Given the description of an element on the screen output the (x, y) to click on. 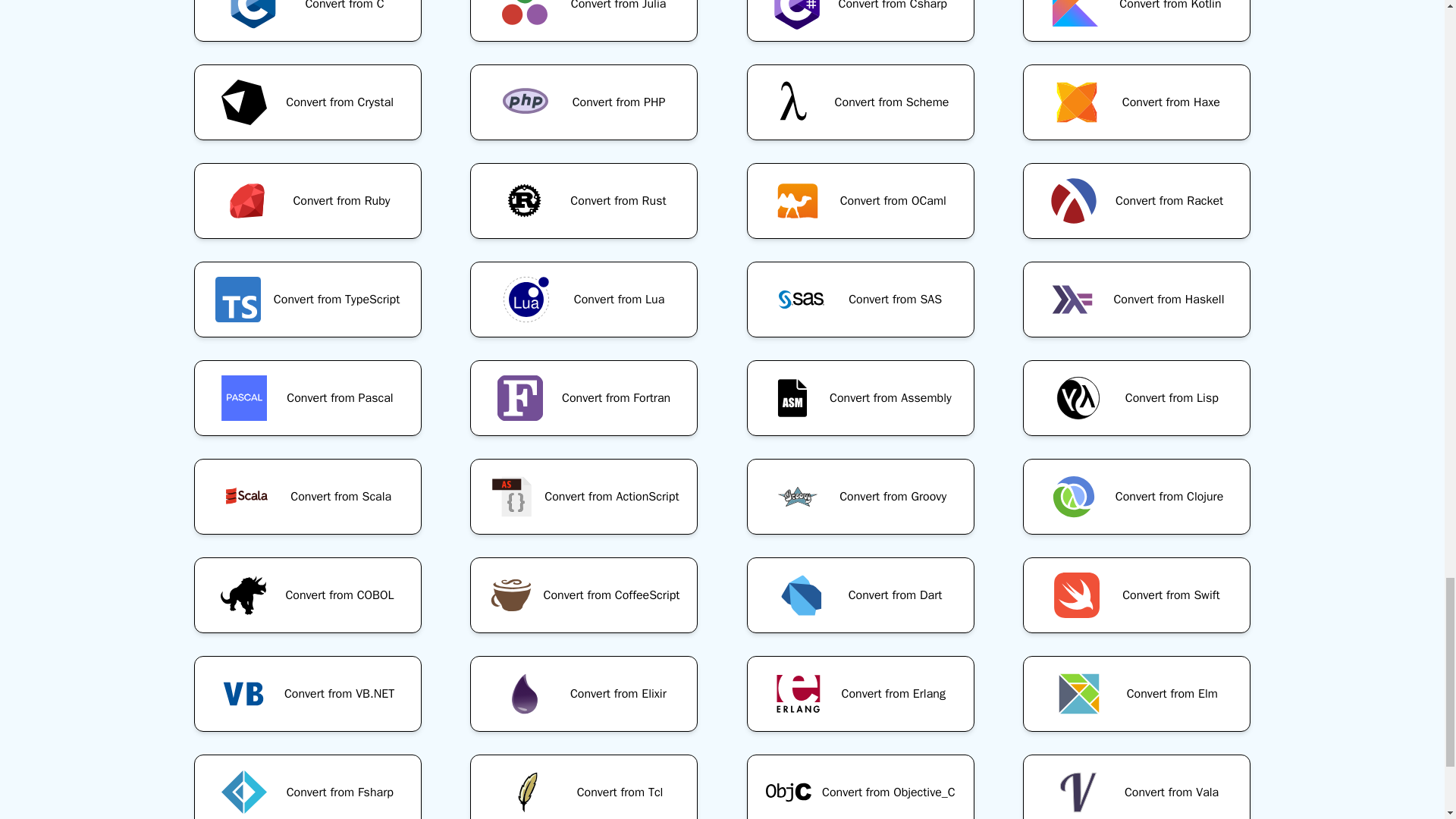
Convert from Fortran (583, 397)
Convert from Assembly (860, 397)
Convert from ActionScript (583, 496)
Convert from Pascal (307, 397)
Convert from Csharp (860, 26)
Convert from Julia (583, 26)
Convert from TypeScript (307, 299)
Convert from Ruby (307, 200)
Convert from Scala (307, 496)
Convert from Haskell (1136, 299)
Convert from Clojure (1136, 496)
Convert from Haxe (1136, 102)
Convert from Lua (583, 299)
Convert from PHP (583, 102)
Convert from Lisp (1136, 397)
